Given the description of an element on the screen output the (x, y) to click on. 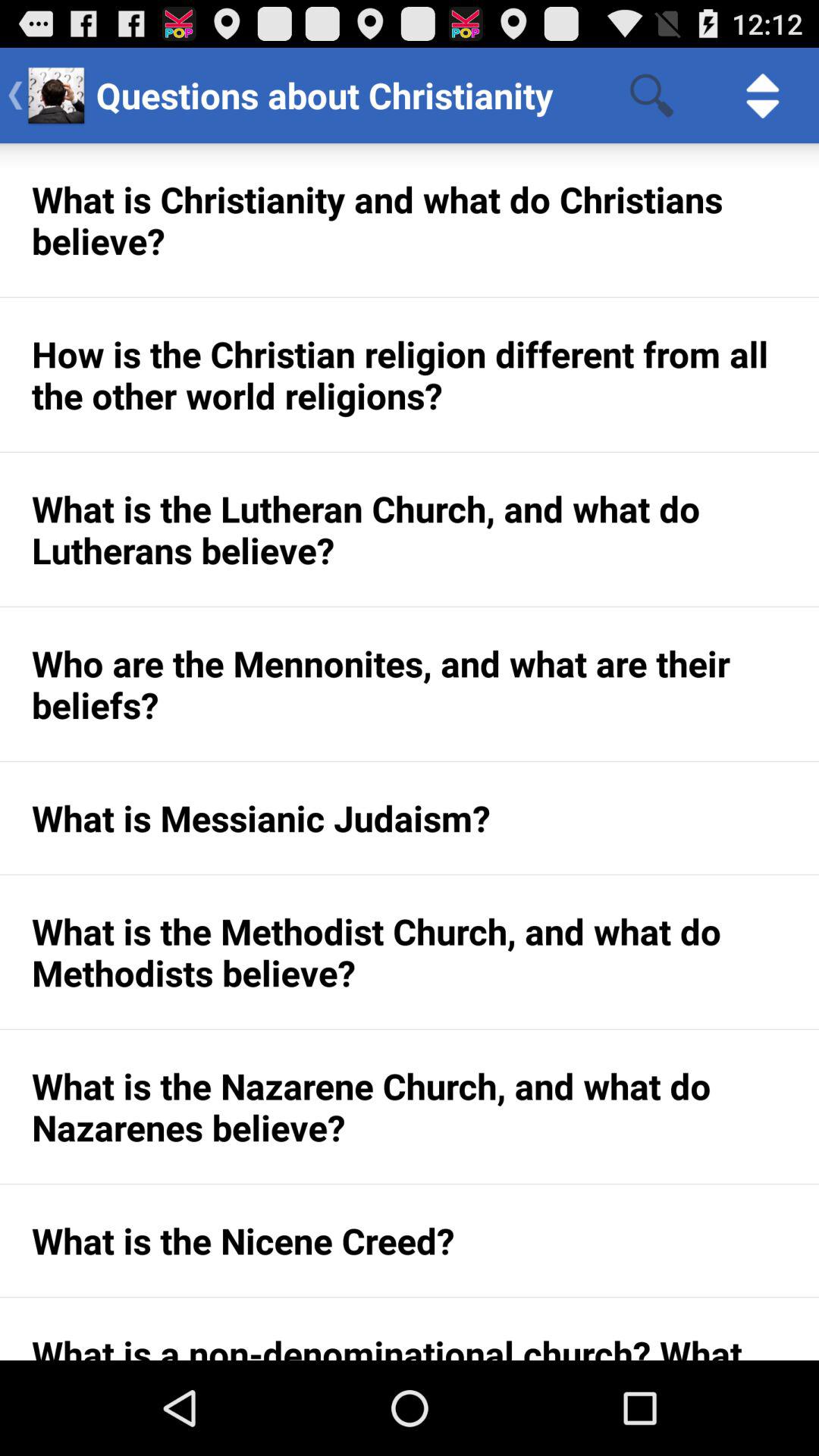
tap icon below the what is the (409, 683)
